Given the description of an element on the screen output the (x, y) to click on. 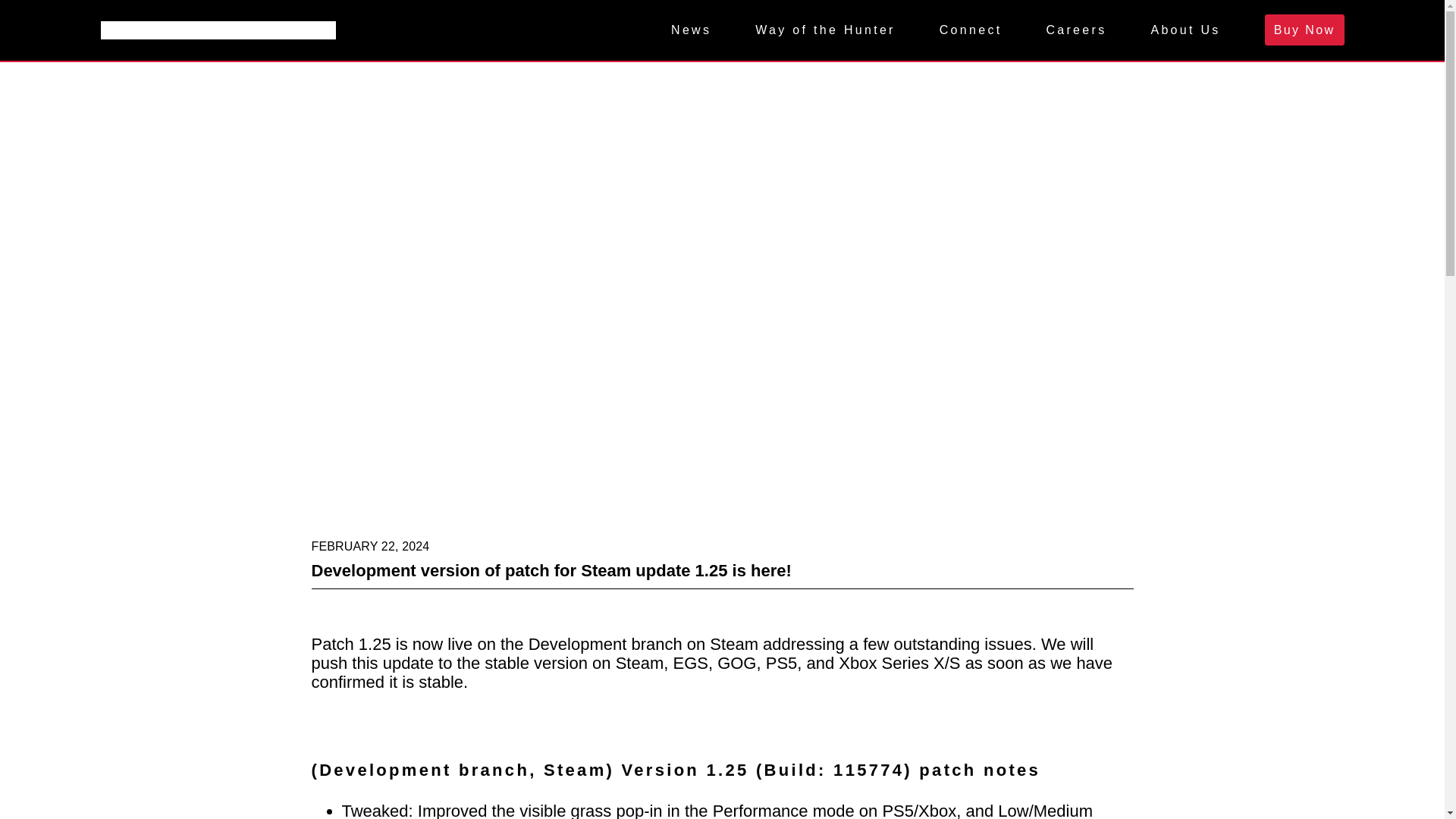
Way of the Hunter (825, 29)
Connect (971, 29)
Careers (1075, 29)
Buy Now (1304, 29)
About Us (1185, 29)
News (691, 29)
